Given the description of an element on the screen output the (x, y) to click on. 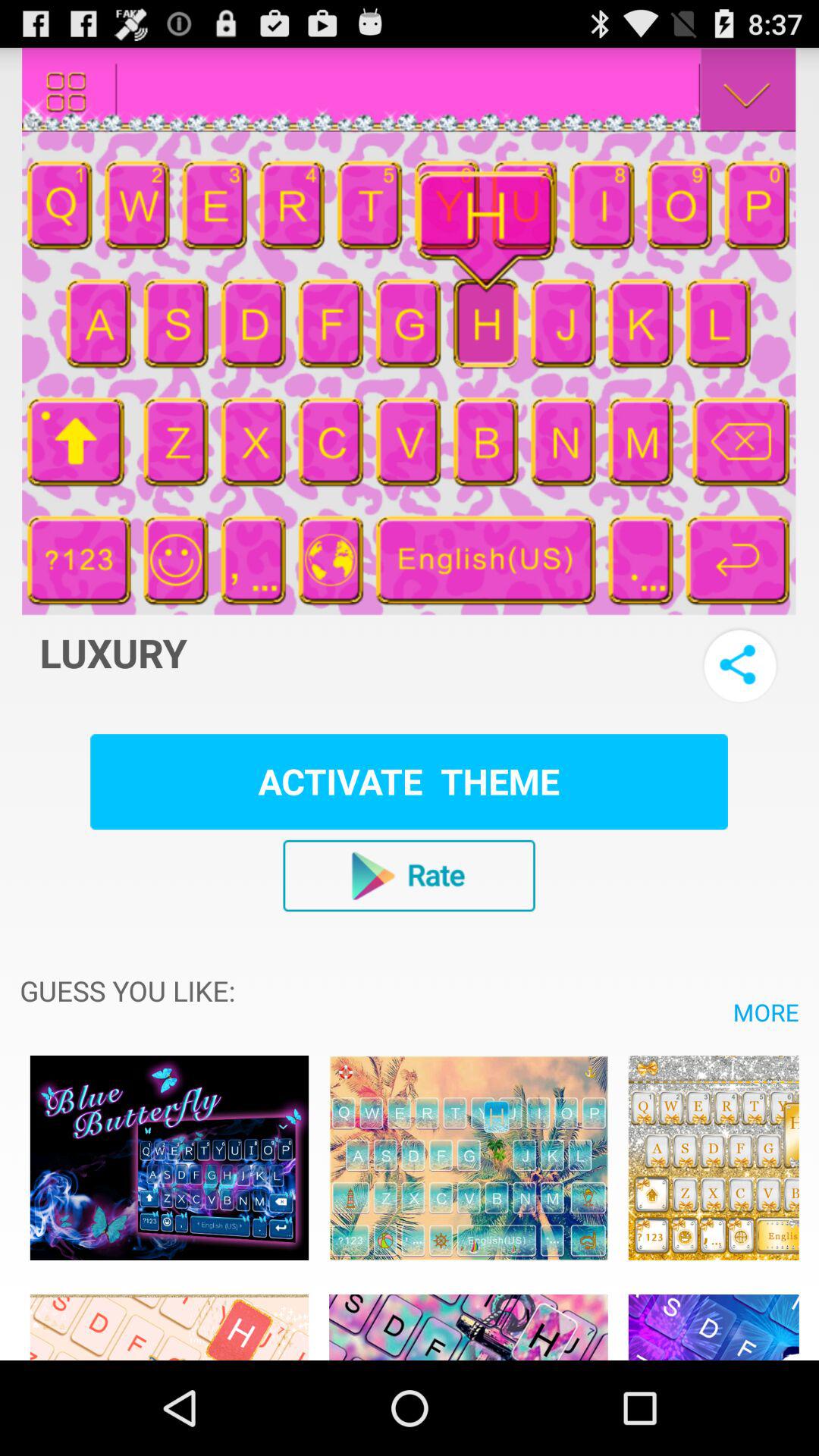
share (740, 665)
